Given the description of an element on the screen output the (x, y) to click on. 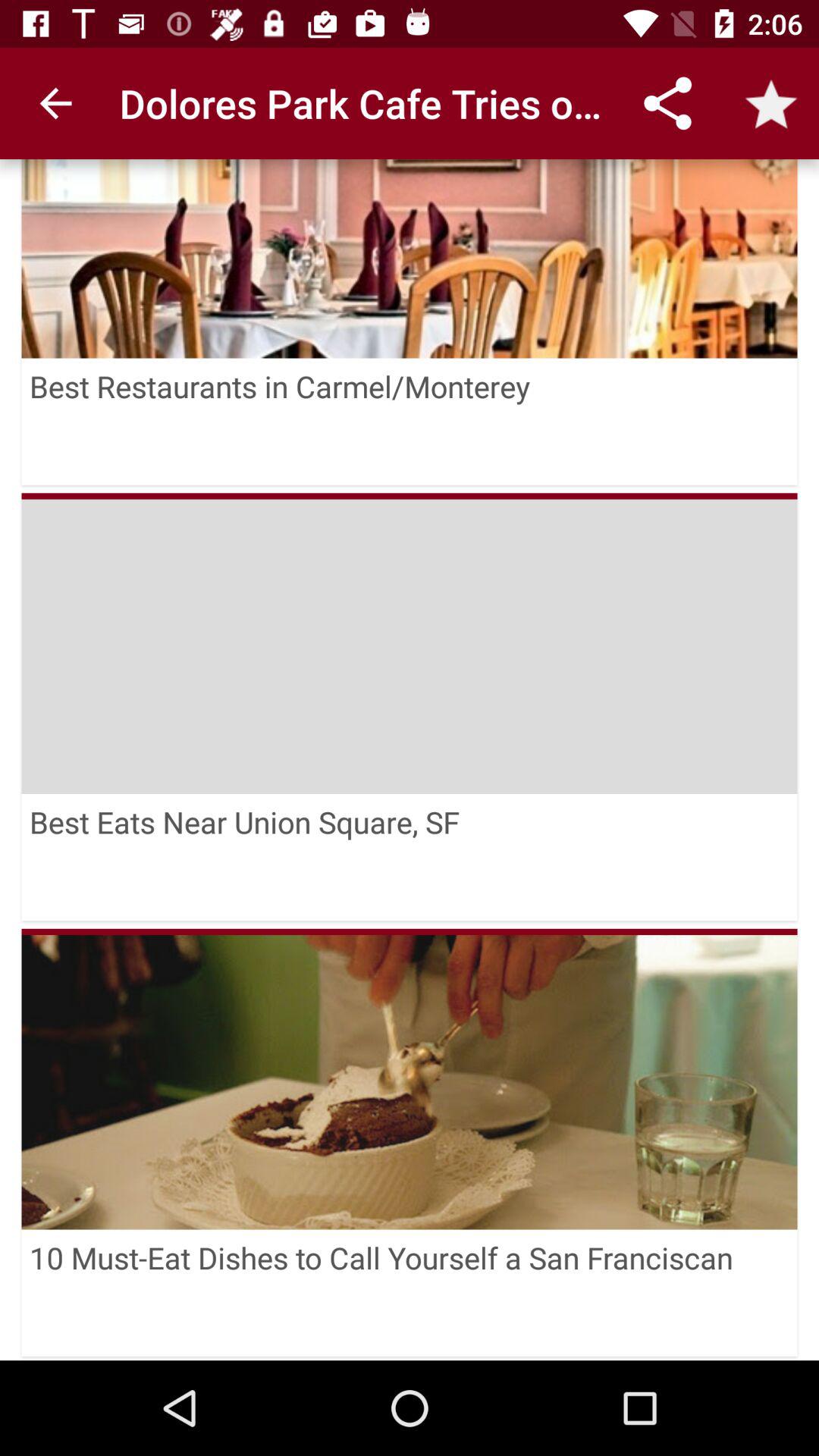
tap the icon above 10 must eat icon (409, 931)
